Given the description of an element on the screen output the (x, y) to click on. 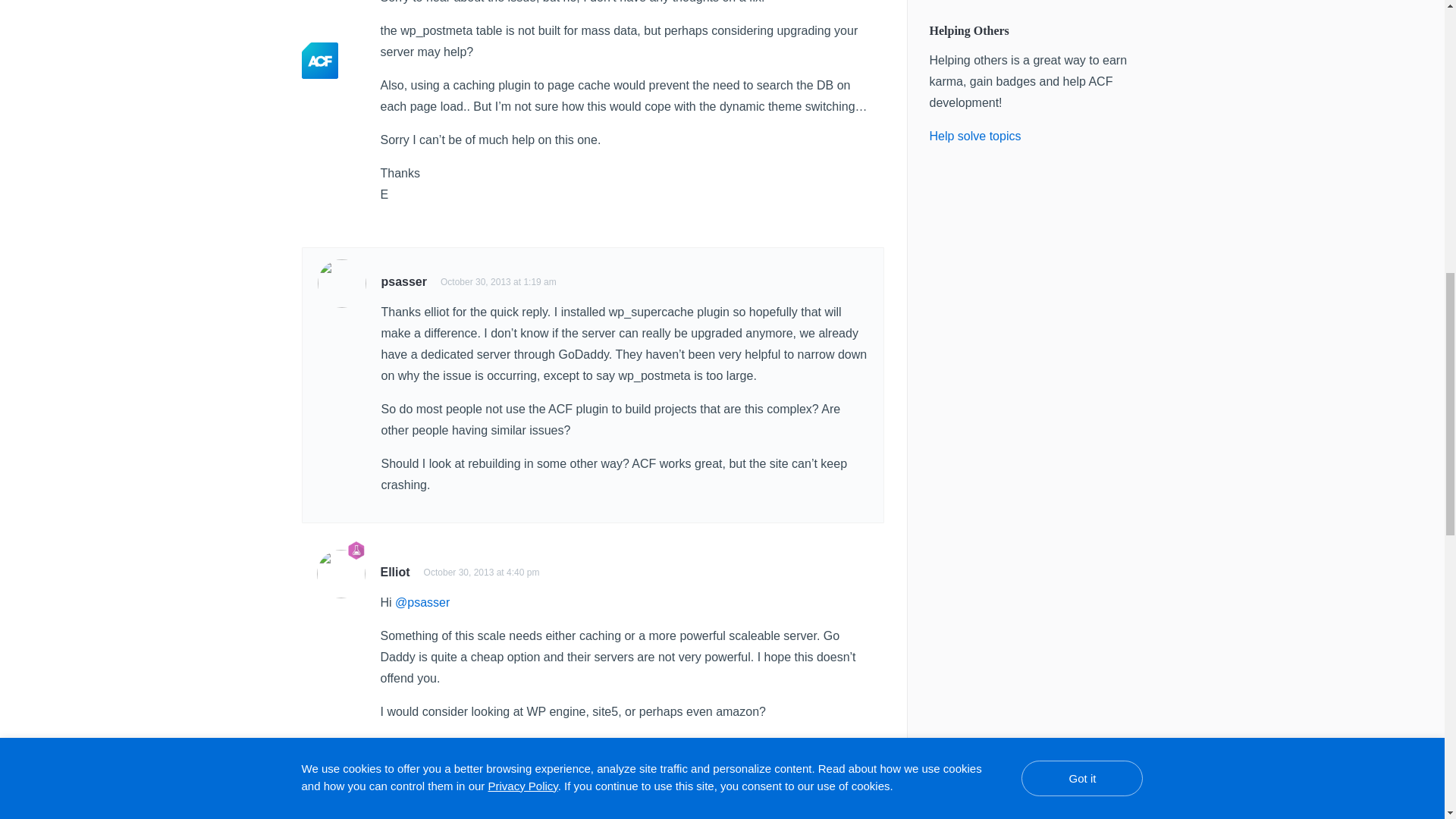
psasser (403, 281)
October 30, 2013 at 1:19 am (498, 281)
Guru (356, 550)
October 30, 2013 at 4:40 pm (481, 572)
Elliot (395, 571)
